Given the description of an element on the screen output the (x, y) to click on. 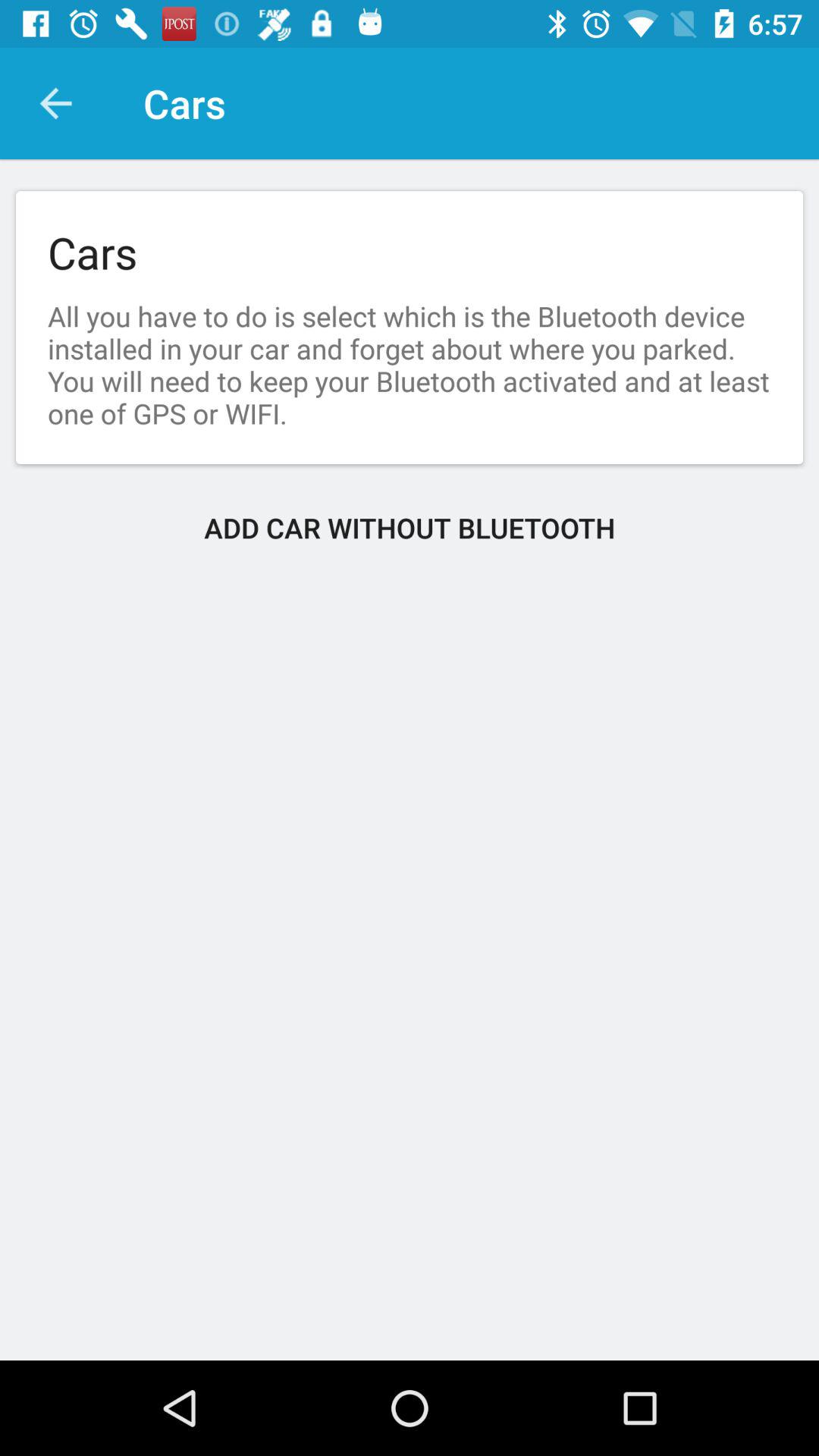
turn off the item above the cars (55, 103)
